Given the description of an element on the screen output the (x, y) to click on. 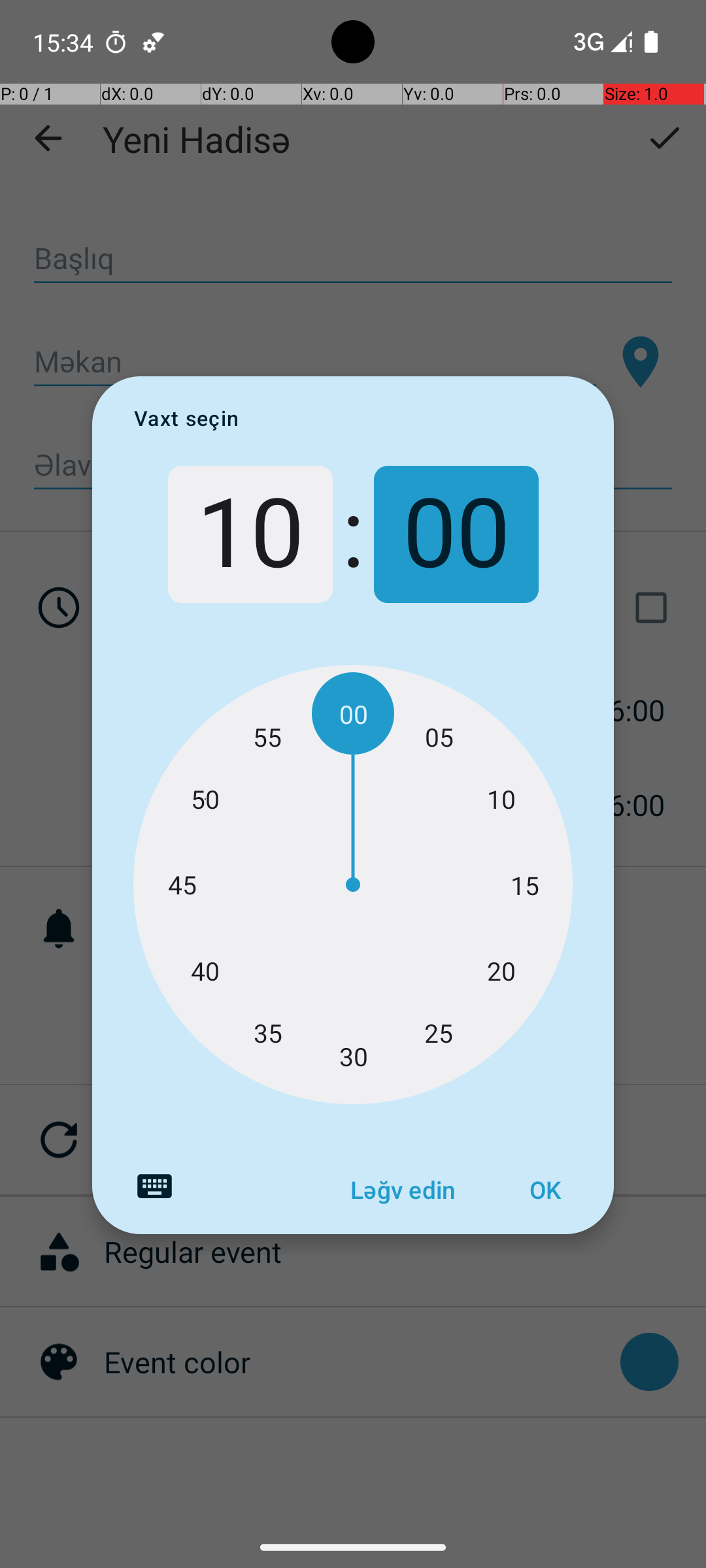
Zamanı daxil etmək üçün mətnlə daxiletmə rejiminə keçin Element type: android.widget.Button (154, 1186)
Ləğv edin Element type: android.widget.Button (402, 1189)
